Given the description of an element on the screen output the (x, y) to click on. 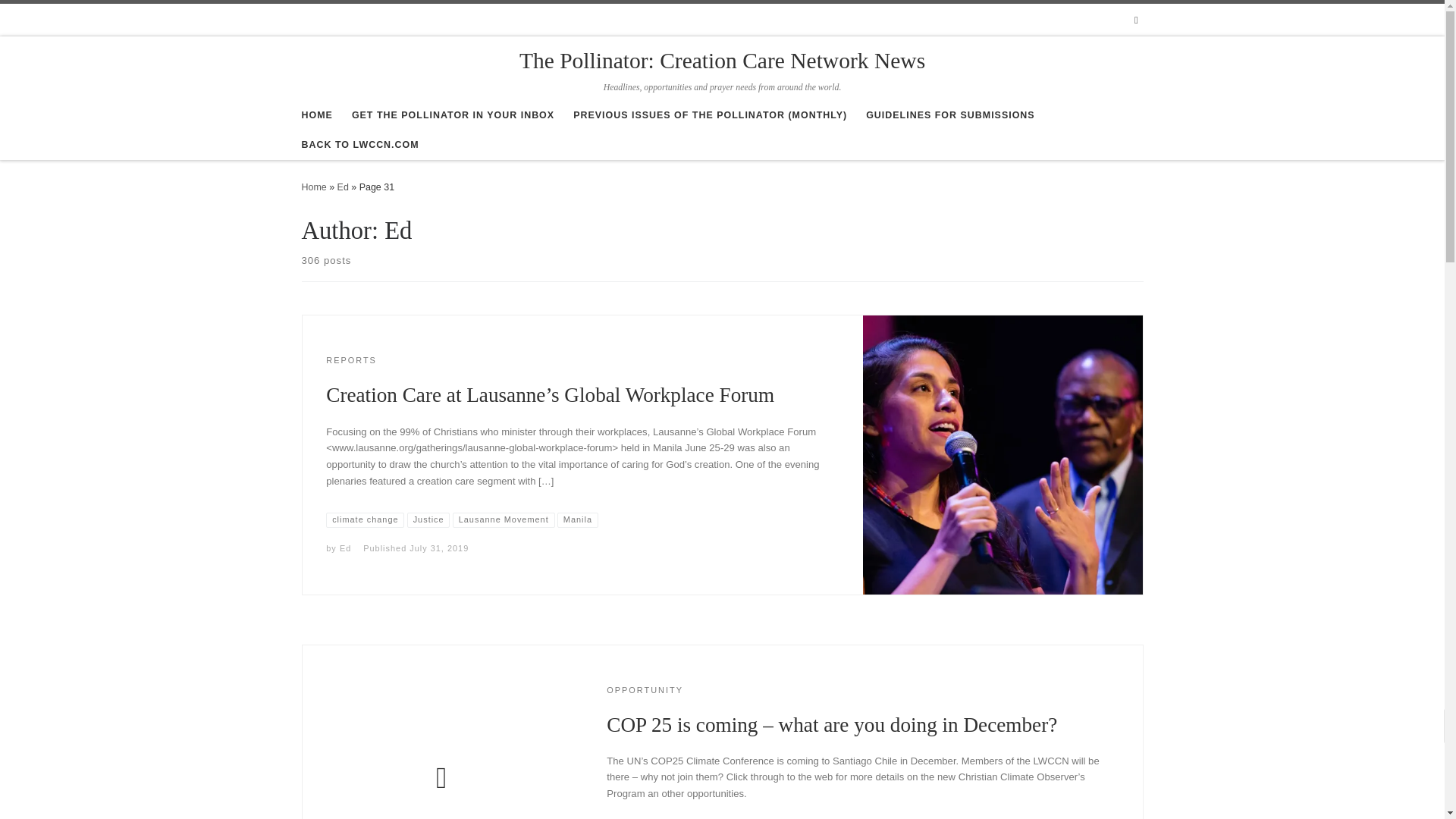
View all posts in Justice (428, 519)
View all posts in Reports (351, 359)
Ed (344, 547)
Manila (577, 519)
View all posts in Manila (577, 519)
View all posts in Lausanne Movement (503, 519)
View all posts by Ed (344, 547)
The Pollinator: Creation Care Network News (313, 186)
GET THE POLLINATOR IN YOUR INBOX (453, 115)
View all posts in climate change (365, 519)
